Given the description of an element on the screen output the (x, y) to click on. 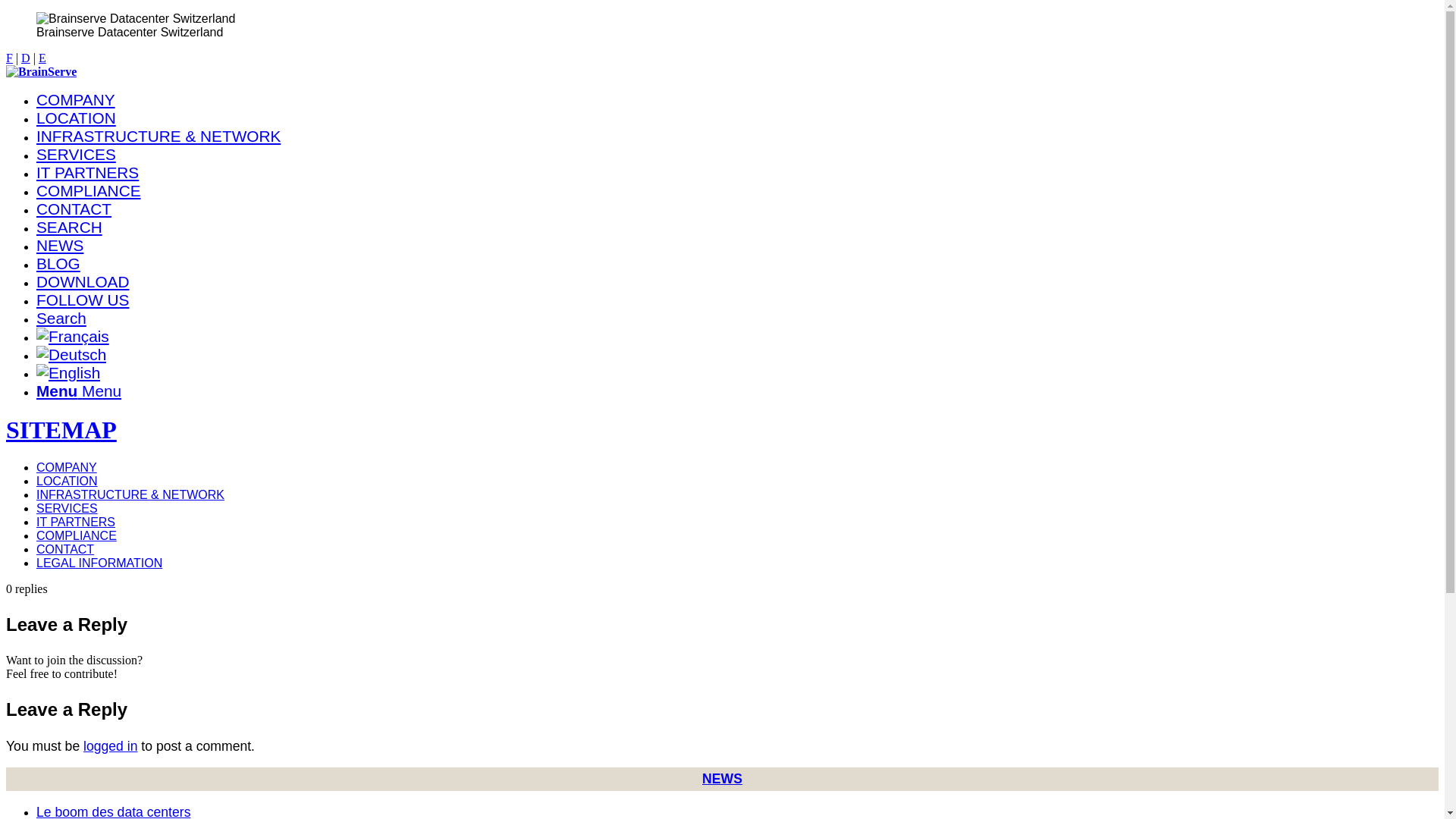
COMPANY Element type: text (75, 99)
FOLLOW US Element type: text (82, 299)
SERVICES Element type: text (76, 154)
IT PARTNERS Element type: text (87, 172)
INFRASTRUCTURE & NETWORK Element type: text (158, 135)
English Element type: hover (68, 373)
LOCATION Element type: text (66, 480)
DOWNLOAD Element type: text (82, 281)
IT PARTNERS Element type: text (75, 521)
COMPLIANCE Element type: text (76, 535)
INFRASTRUCTURE & NETWORK Element type: text (130, 494)
CONTACT Element type: text (65, 548)
COMPLIANCE Element type: text (88, 190)
LEGAL INFORMATION Element type: text (99, 562)
Search Element type: text (61, 317)
F Element type: text (9, 57)
SERVICES Element type: text (66, 508)
NEWS Element type: text (59, 245)
SITEMAP Element type: text (61, 429)
LOCATION Element type: text (76, 117)
CONTACT Element type: text (73, 208)
BLOG Element type: text (58, 263)
SEARCH Element type: text (69, 226)
D Element type: text (25, 57)
E Element type: text (42, 57)
Menu Menu Element type: text (78, 390)
Brainserve Datacenter Switzerland Element type: hover (135, 18)
NEWS Element type: text (722, 778)
logged in Element type: text (110, 745)
Deutsch Element type: hover (71, 354)
COMPANY Element type: text (66, 467)
